Given the description of an element on the screen output the (x, y) to click on. 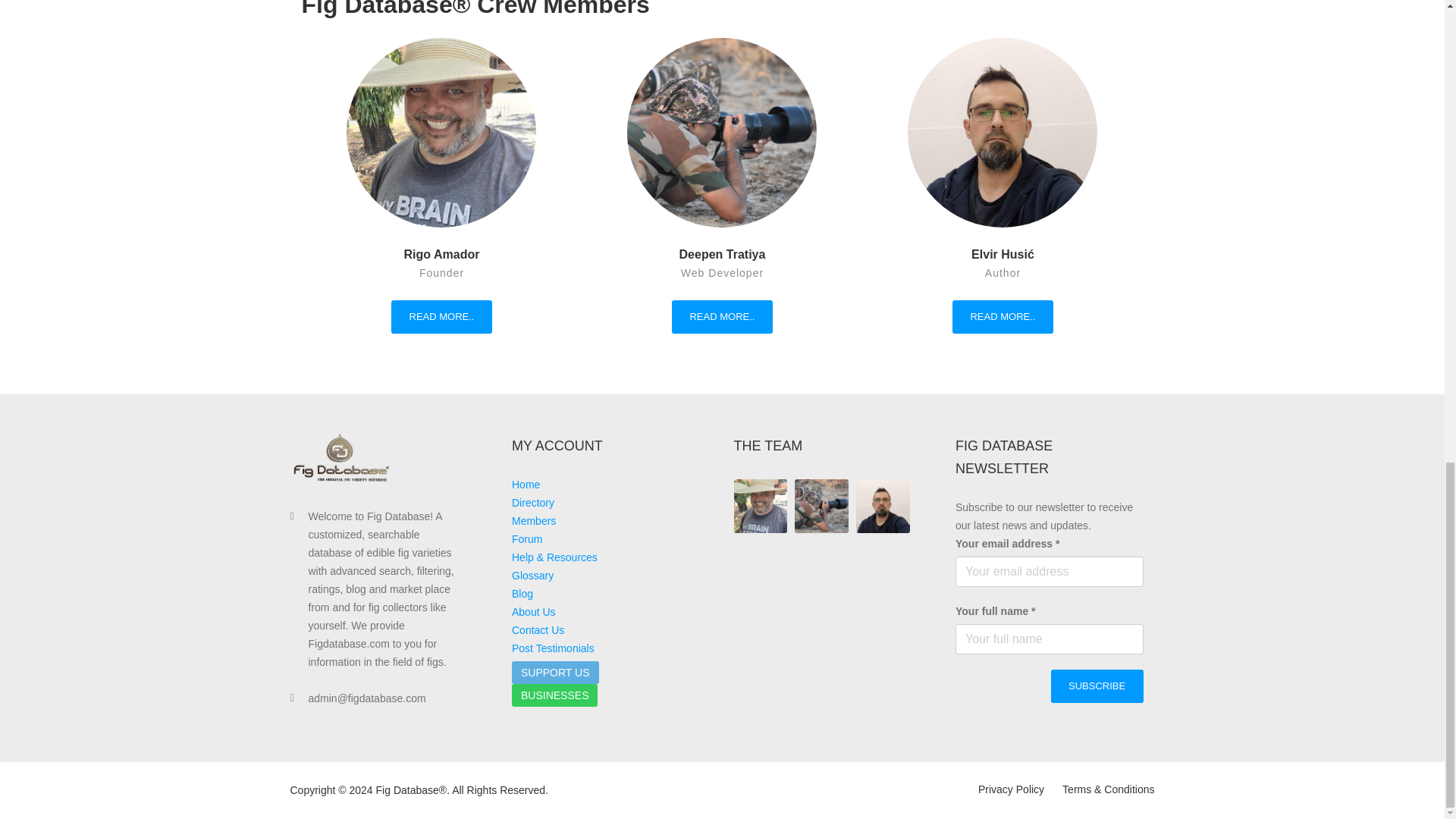
READ MORE.. (722, 316)
Subscribe (1096, 685)
Glossary (532, 575)
About Us (534, 612)
Forum (526, 539)
READ MORE.. (441, 316)
SUPPORT US (555, 671)
BUSINESSES (554, 694)
Blog (522, 593)
Home (526, 484)
